Given the description of an element on the screen output the (x, y) to click on. 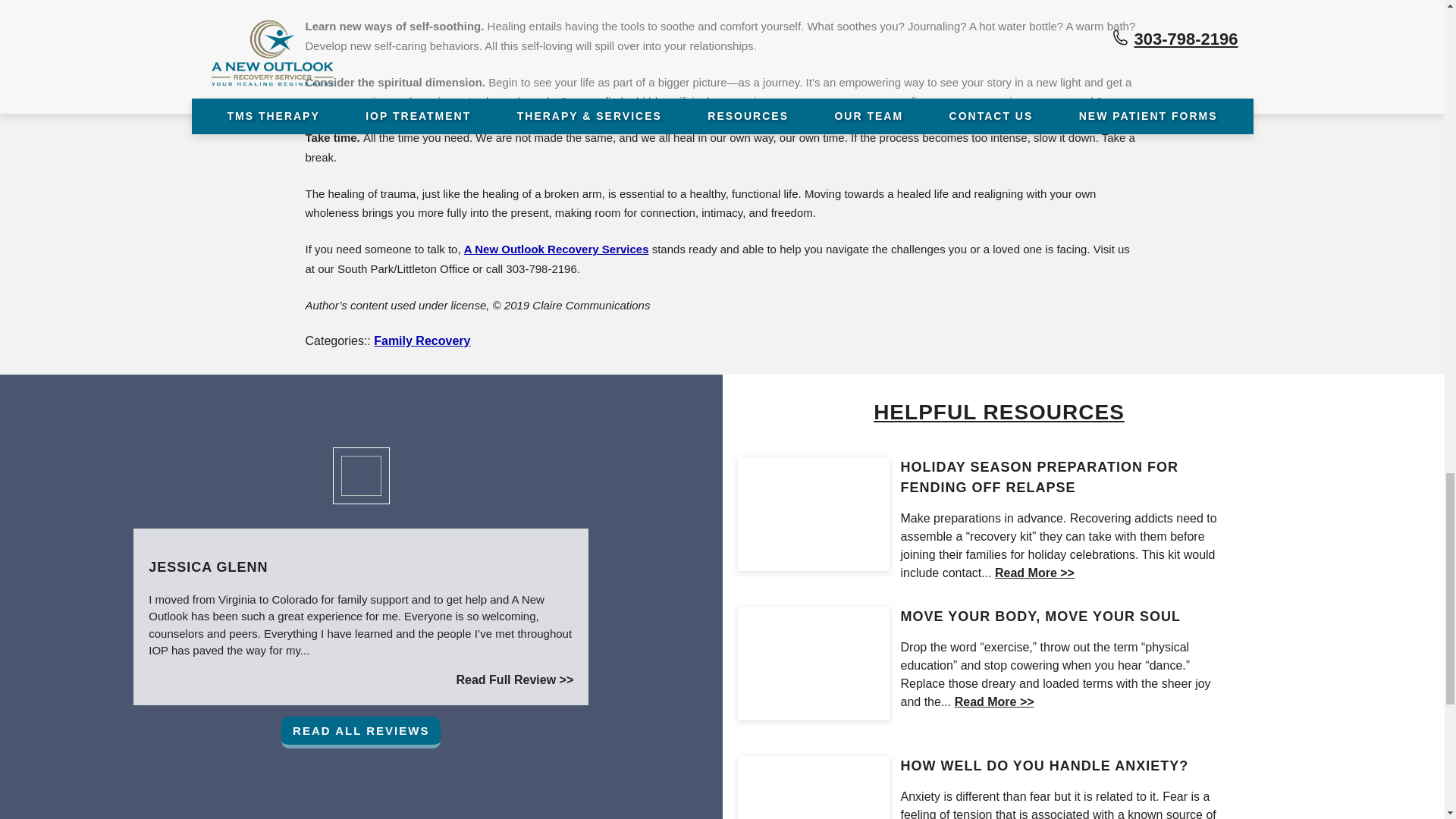
A New Outlook Recovery Services (556, 248)
Family Recovery (422, 340)
READ ALL REVIEWS (361, 732)
READ ALL REVIEWS (361, 732)
HELPFUL RESOURCES (998, 411)
